Given the description of an element on the screen output the (x, y) to click on. 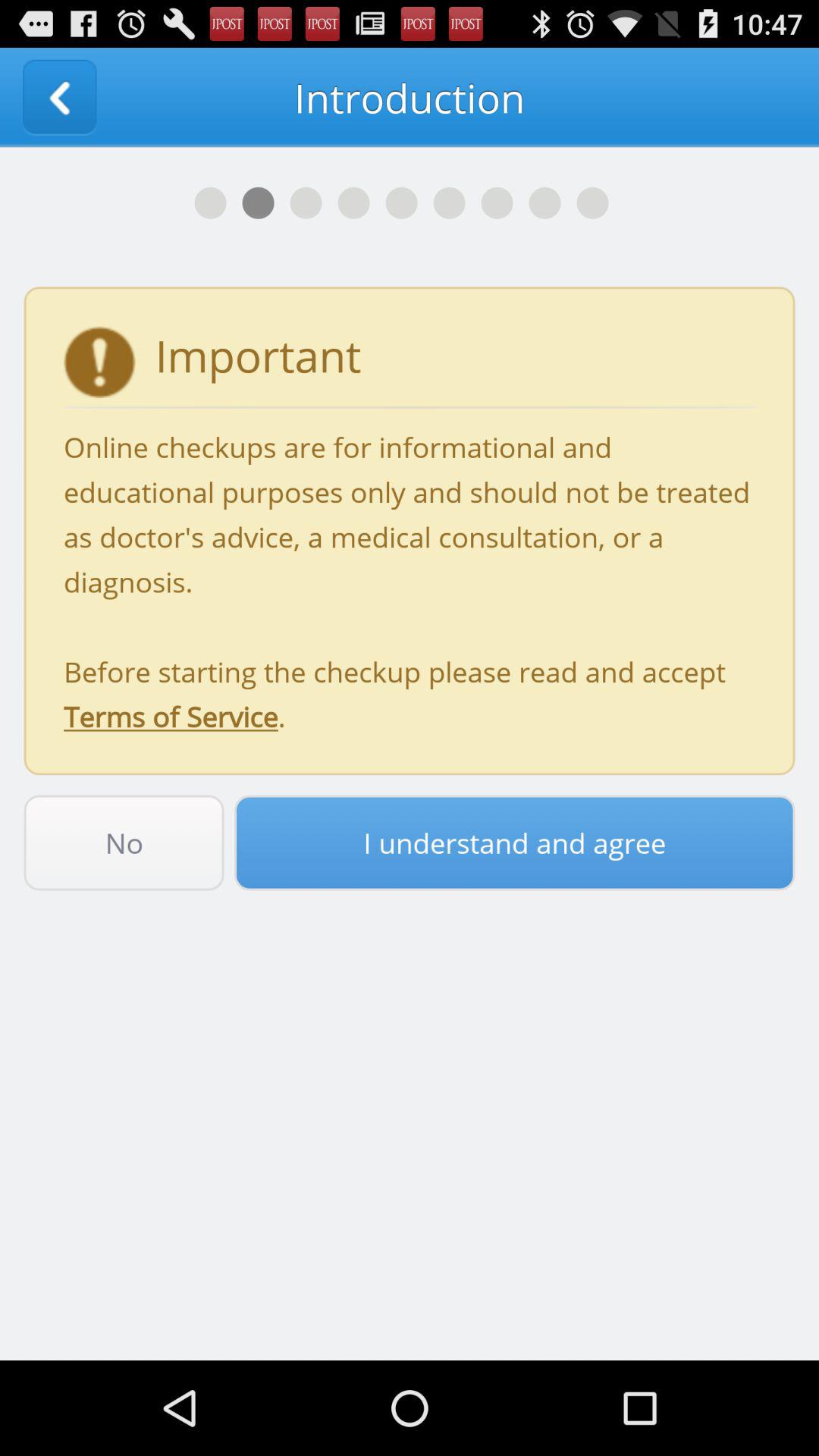
go back (59, 97)
